Given the description of an element on the screen output the (x, y) to click on. 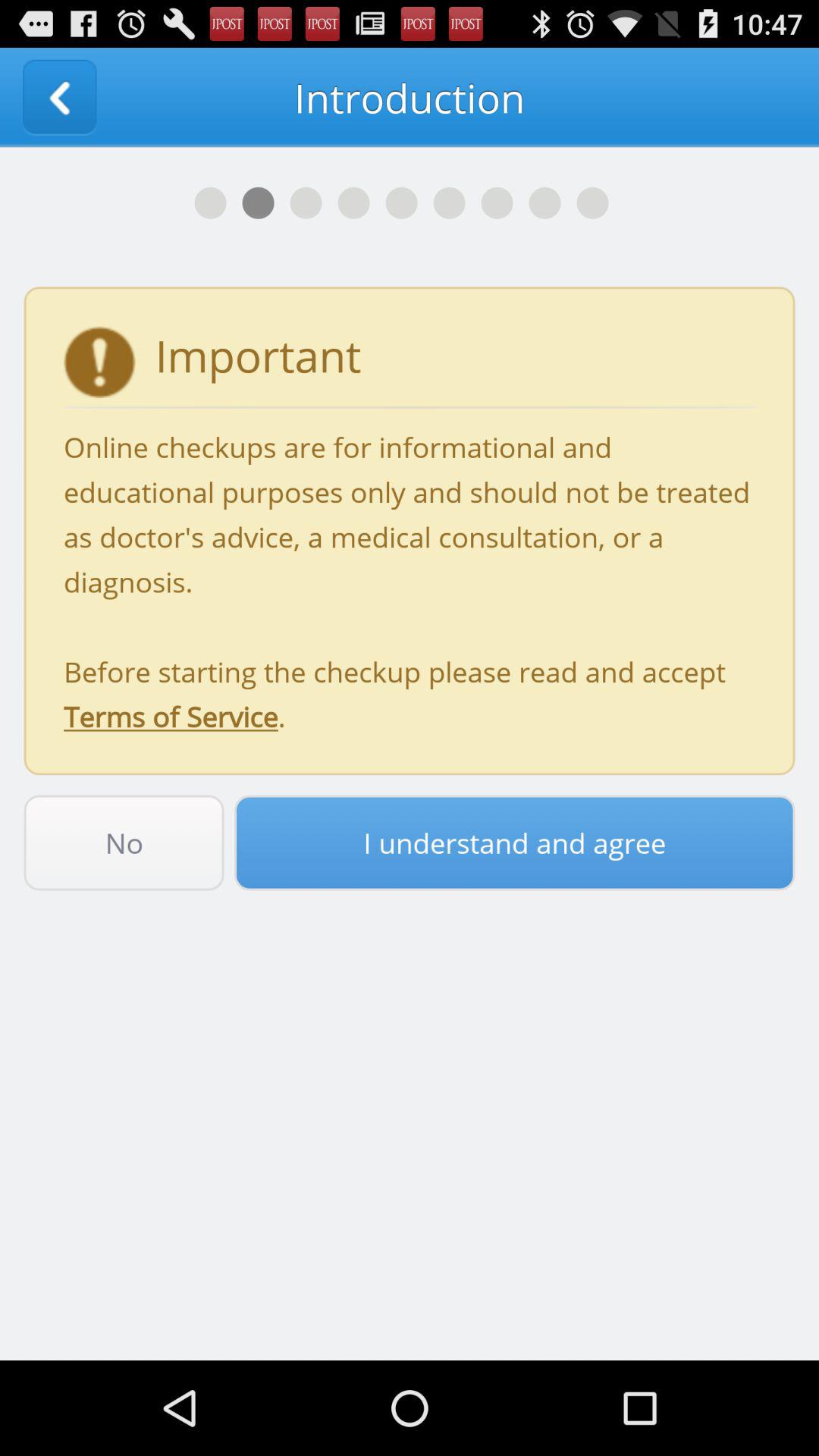
go back (59, 97)
